Given the description of an element on the screen output the (x, y) to click on. 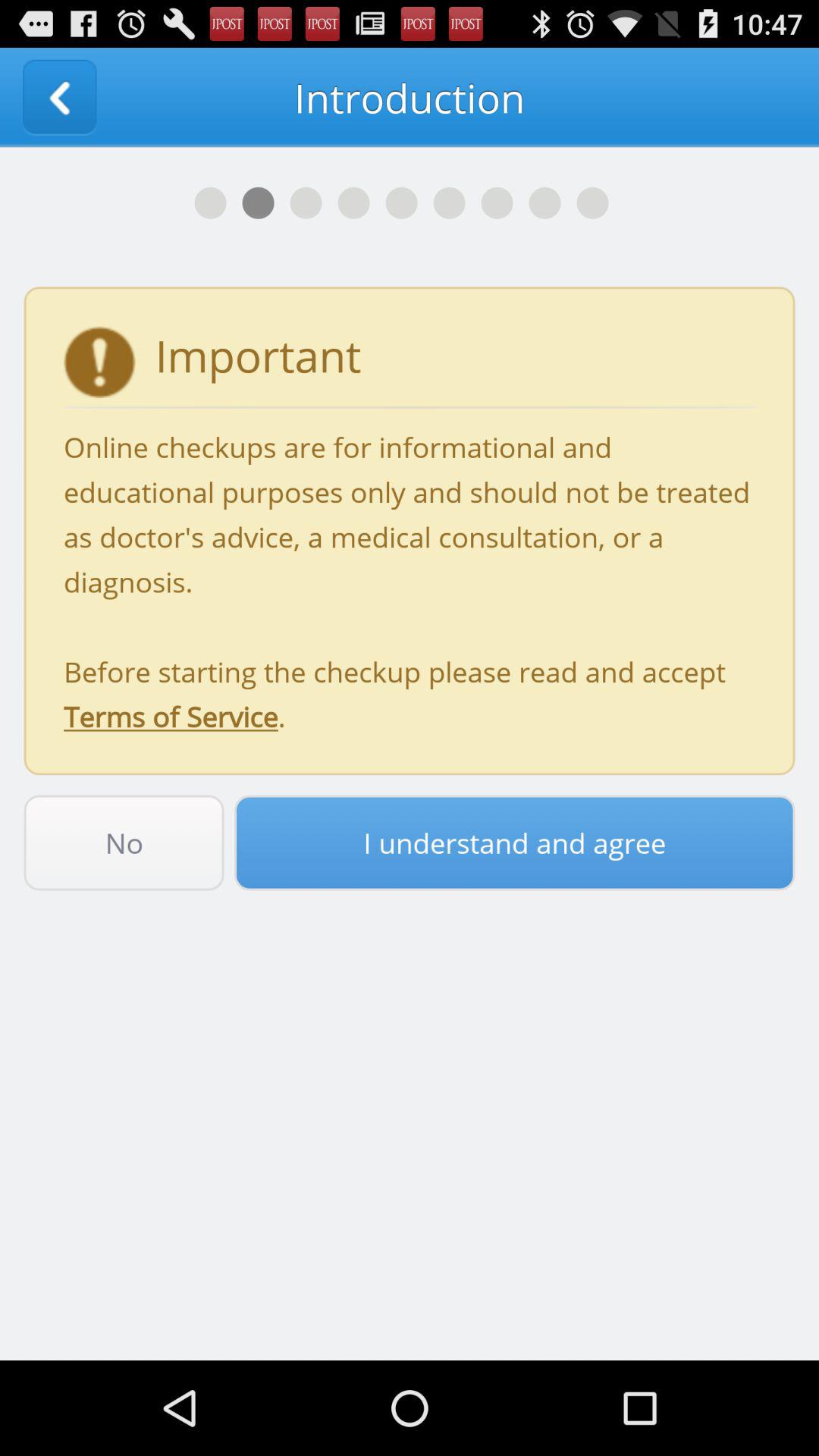
go back (59, 97)
